Given the description of an element on the screen output the (x, y) to click on. 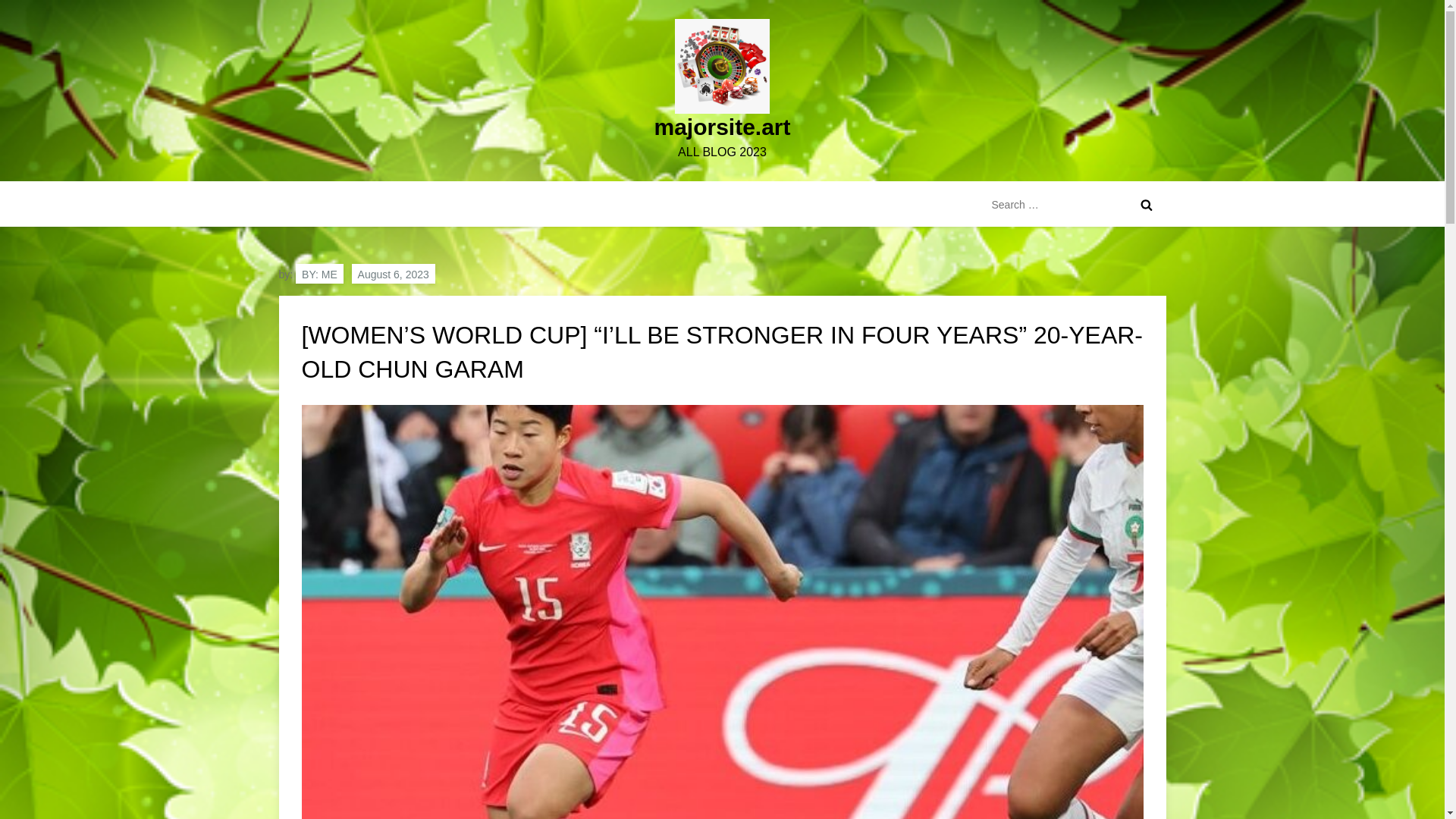
August 6, 2023 (393, 273)
BY: ME (319, 273)
majorsite.art (721, 126)
